Given the description of an element on the screen output the (x, y) to click on. 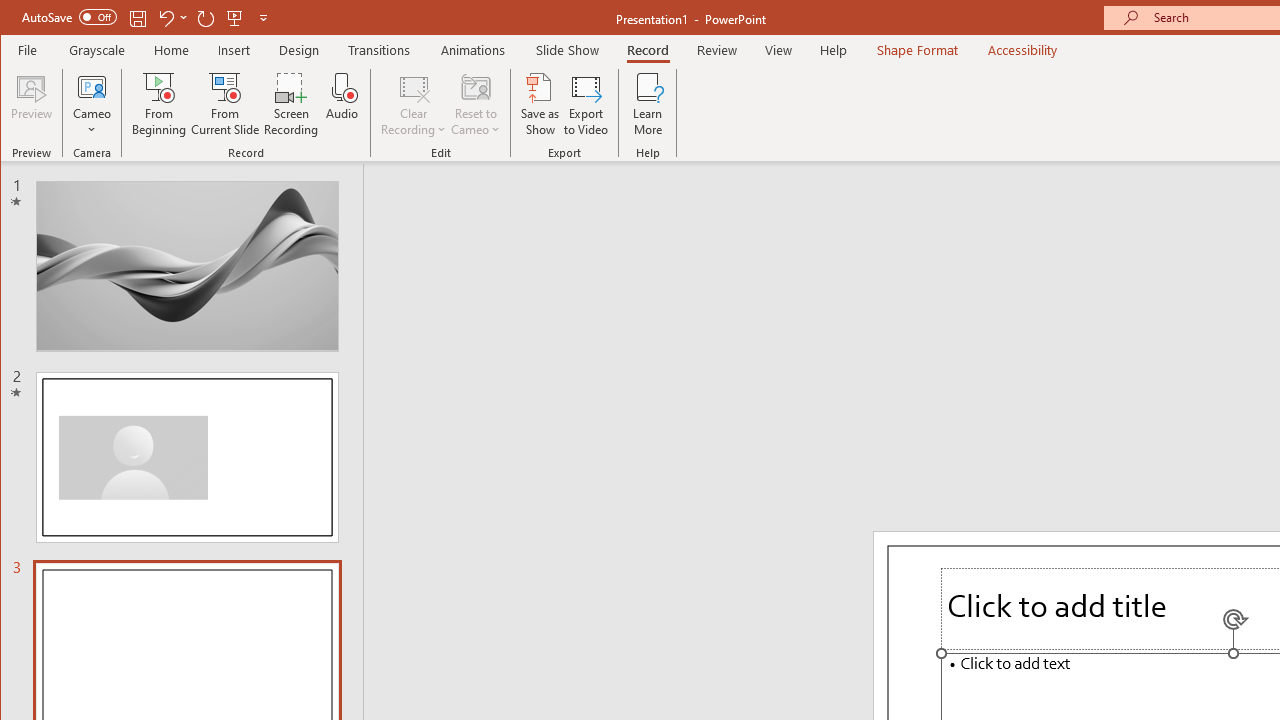
From Beginning... (159, 104)
Learn More (648, 104)
Clear Recording (413, 104)
Save as Show (539, 104)
Export to Video (585, 104)
